Given the description of an element on the screen output the (x, y) to click on. 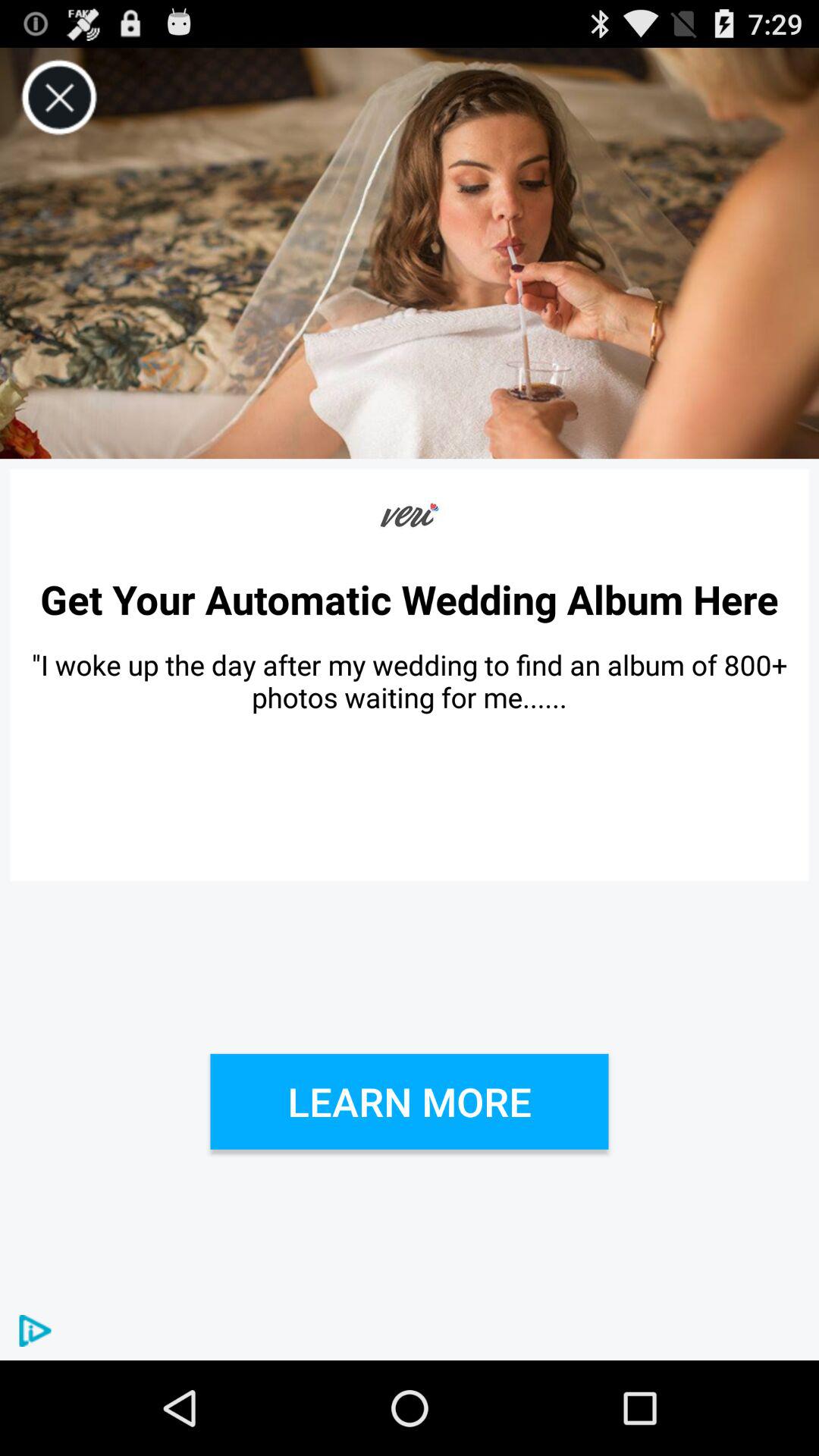
swipe until the get your automatic item (409, 598)
